Given the description of an element on the screen output the (x, y) to click on. 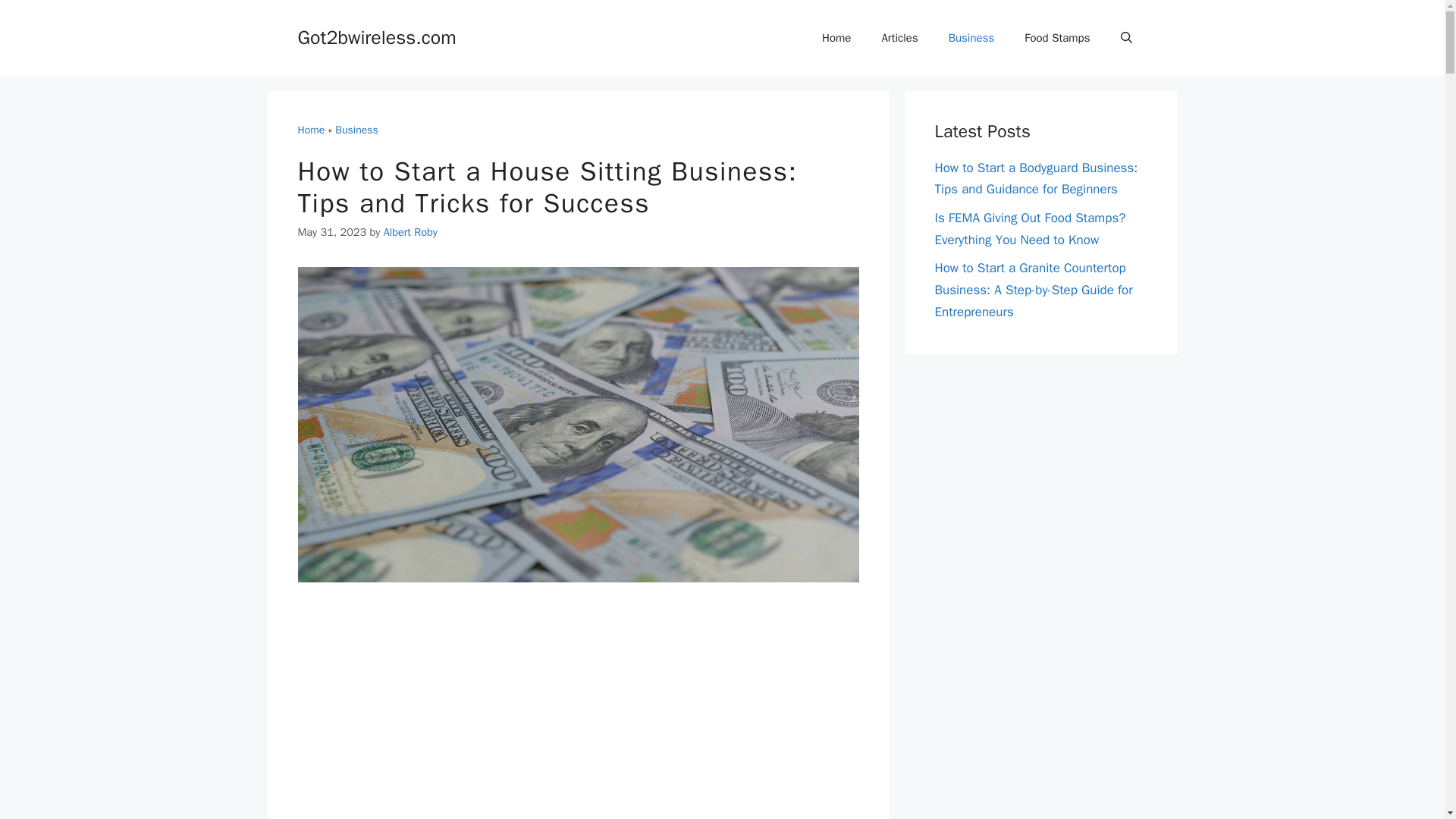
View all posts by Albert Roby (411, 232)
Home (310, 129)
Advertisement (578, 713)
Is FEMA Giving Out Food Stamps? Everything You Need to Know (1029, 228)
Home (836, 37)
Business (355, 129)
Business (971, 37)
Albert Roby (411, 232)
